Given the description of an element on the screen output the (x, y) to click on. 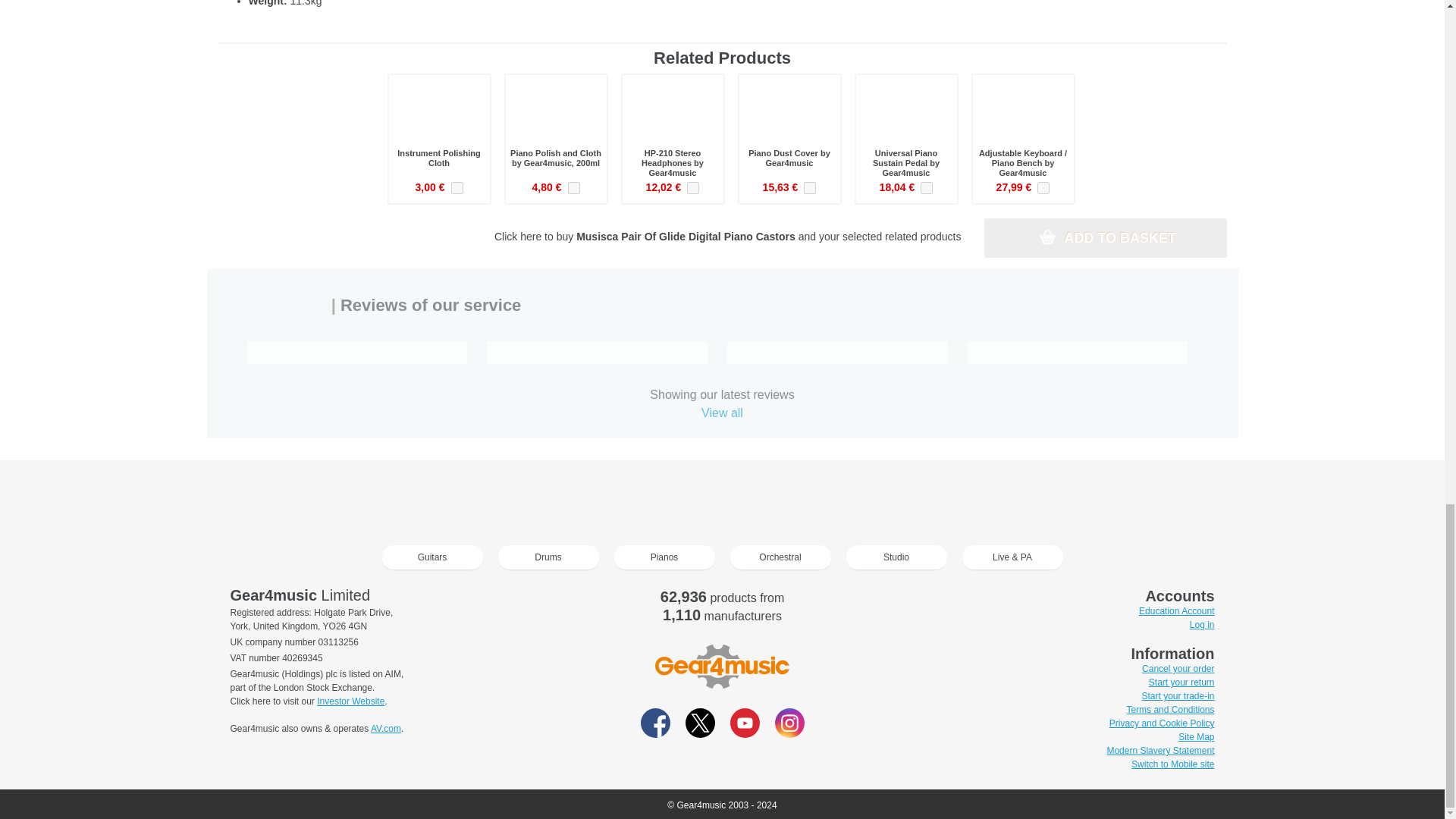
1 (1042, 187)
1 (926, 187)
1 (456, 187)
1 (573, 187)
1 (809, 187)
1 (692, 187)
